Given the description of an element on the screen output the (x, y) to click on. 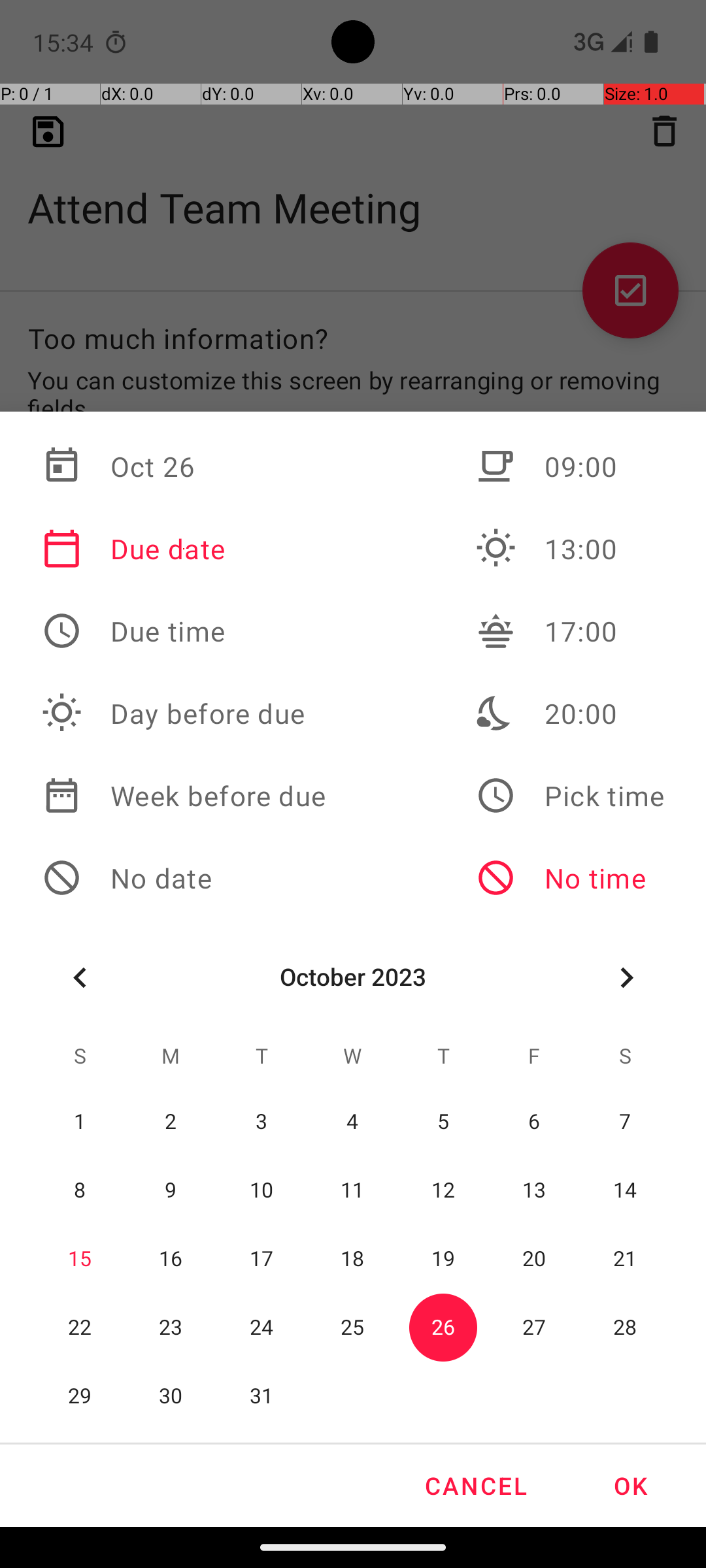
Oct 26 Element type: android.widget.CompoundButton (183, 466)
